Given the description of an element on the screen output the (x, y) to click on. 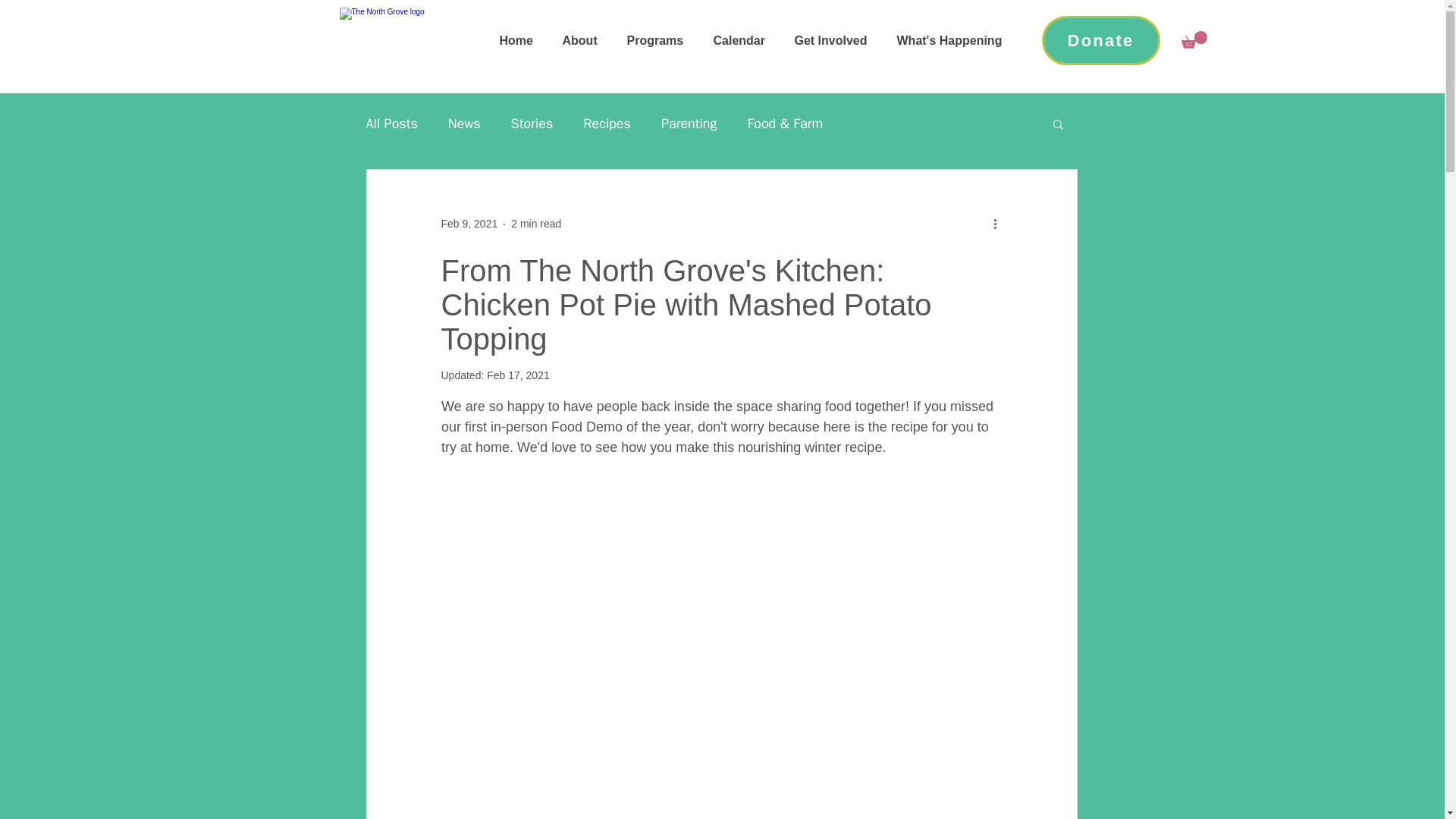
Feb 17, 2021 (518, 375)
Home (519, 40)
Donate (1101, 40)
Parenting (689, 123)
News (464, 123)
What's Happening (952, 40)
Recipes (606, 123)
Calendar (742, 40)
All Posts (390, 123)
Stories (532, 123)
